Given the description of an element on the screen output the (x, y) to click on. 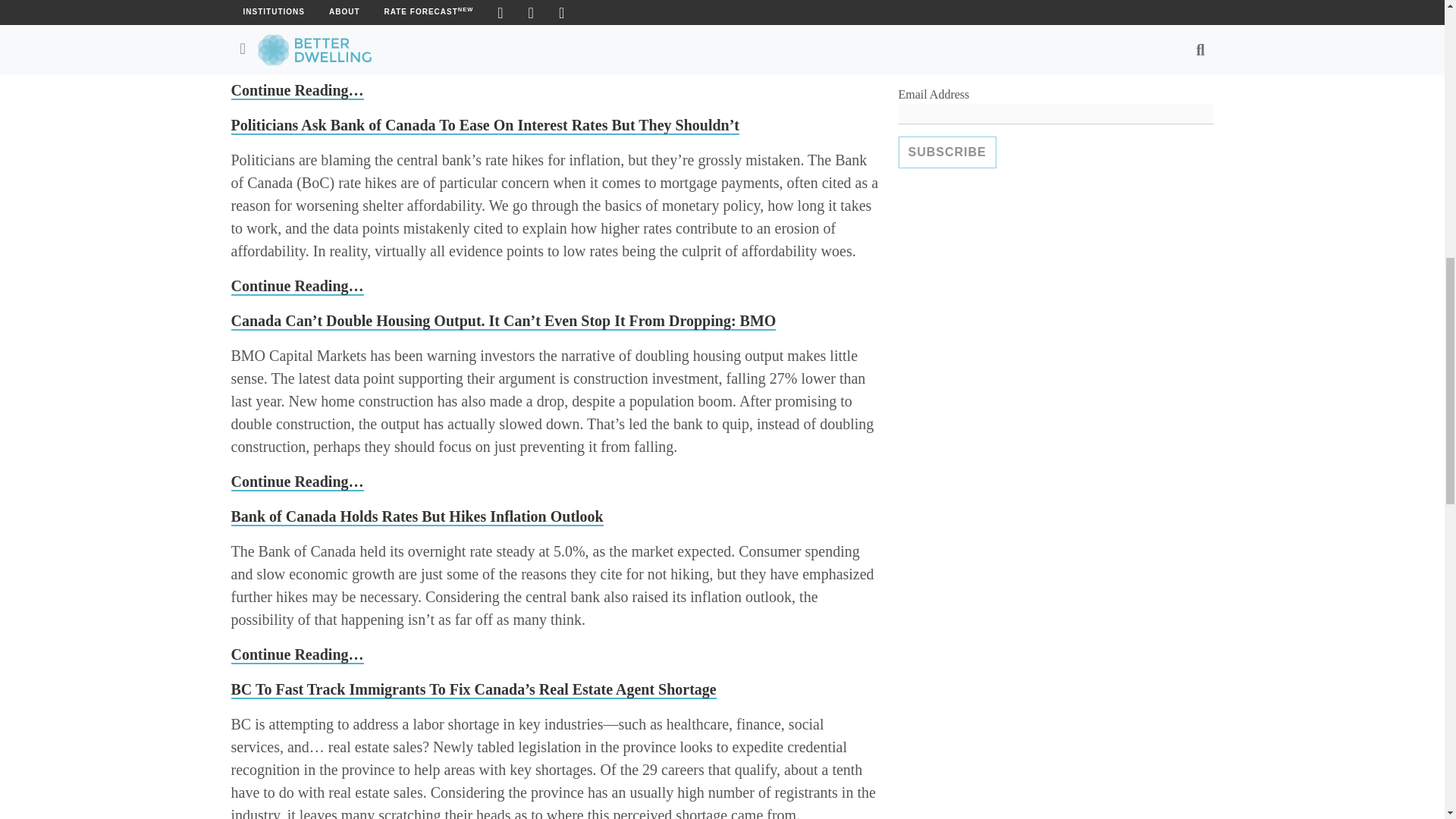
Bank of Canada Holds Rates But Hikes Inflation Outlook (416, 516)
Subscribe (946, 152)
Subscribe (946, 152)
